Given the description of an element on the screen output the (x, y) to click on. 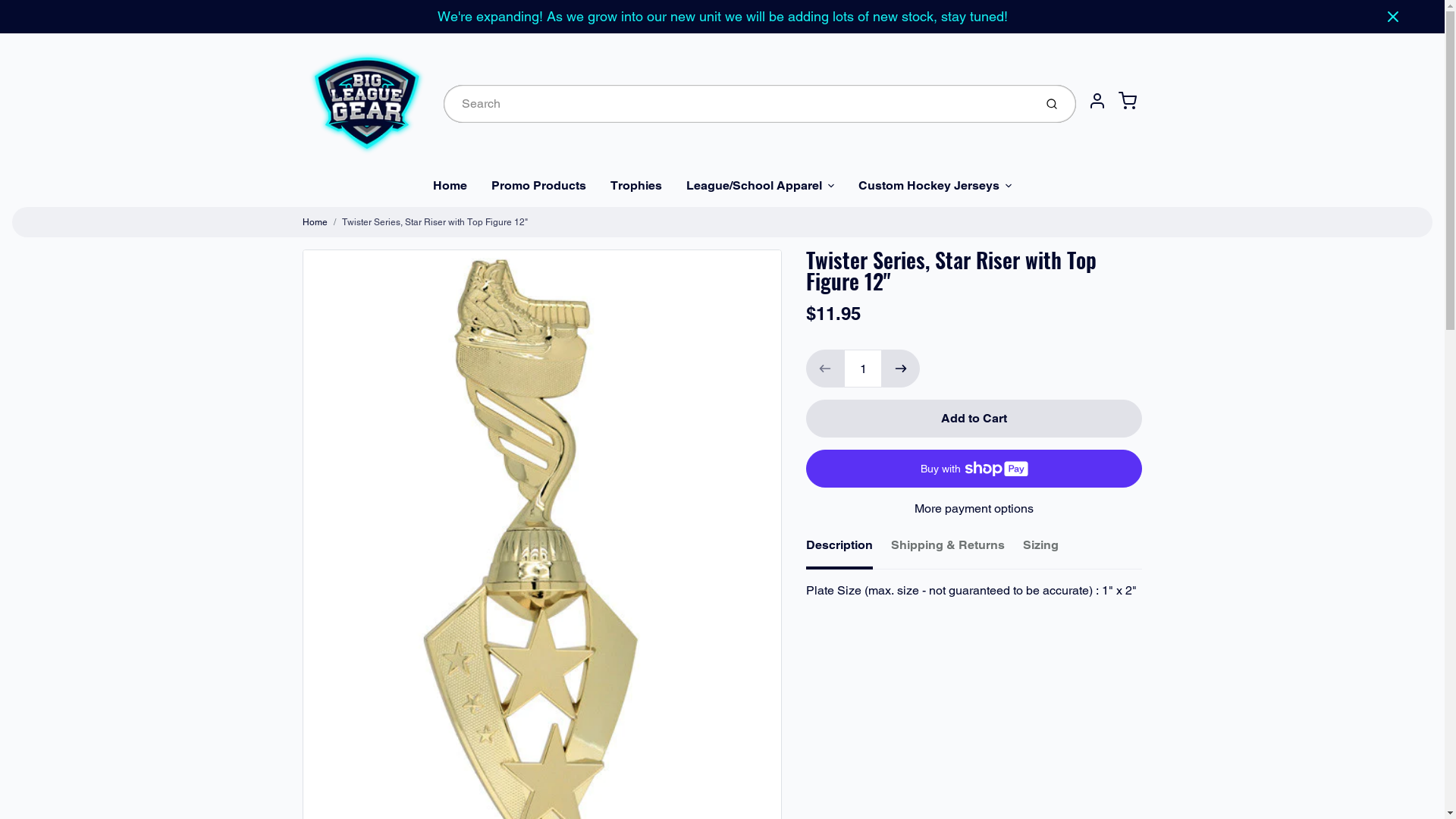
Add to Cart Element type: text (974, 418)
Submit Element type: text (1052, 103)
Shipping & Returns Element type: text (947, 548)
Sizing Element type: text (1040, 548)
Trophies Element type: text (636, 185)
Description Element type: text (839, 549)
Twister Series, Star Riser with Top Figure 12" Element type: text (434, 222)
More payment options Element type: text (974, 508)
Promo Products Element type: text (538, 185)
Home Element type: text (449, 185)
Account Element type: text (1096, 100)
Custom Hockey Jerseys Element type: text (934, 185)
Cart Element type: text (1126, 100)
Home Element type: text (313, 222)
League/School Apparel Element type: text (760, 185)
